Given the description of an element on the screen output the (x, y) to click on. 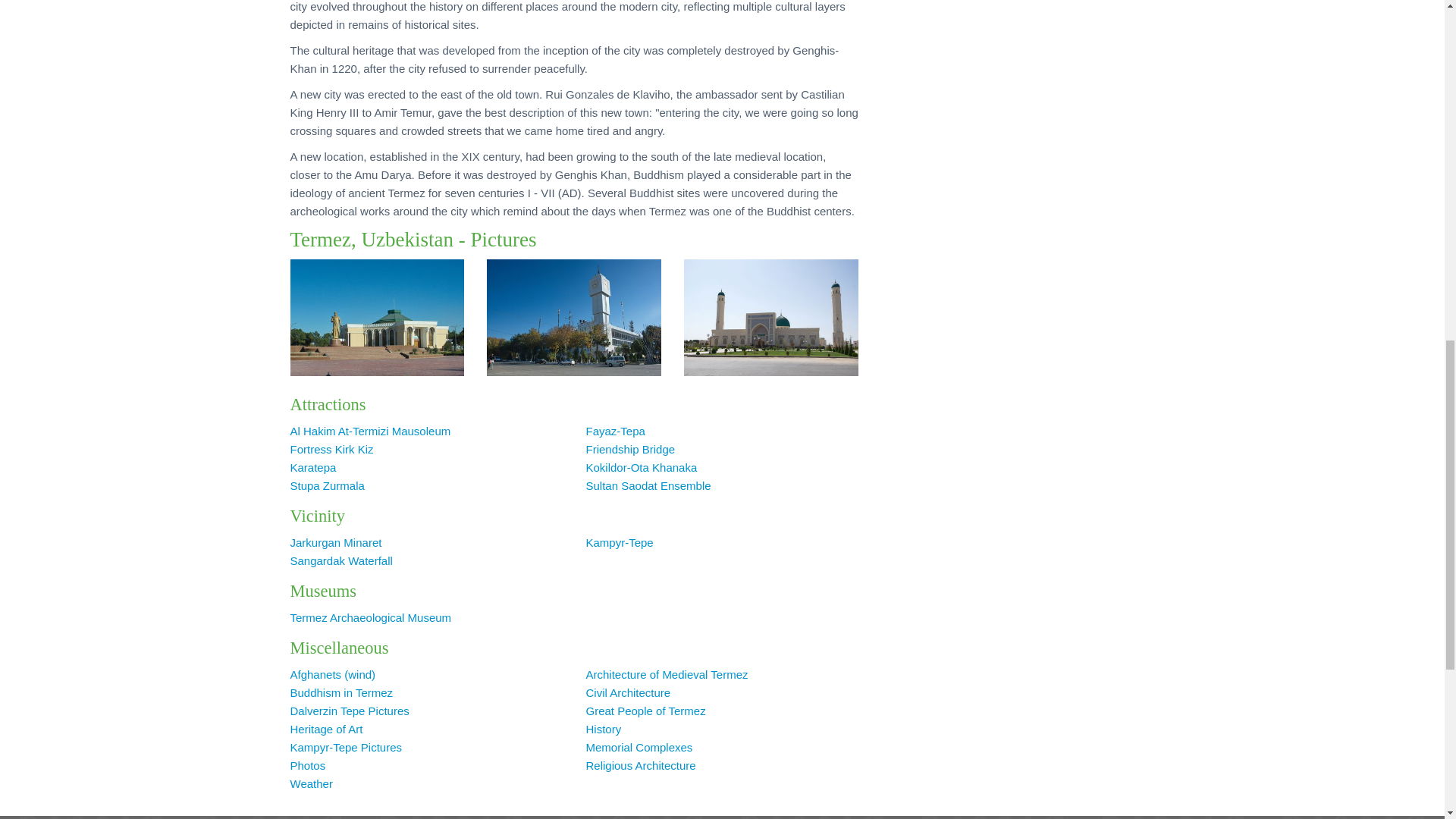
Termez, Uzbekistan (376, 317)
